Given the description of an element on the screen output the (x, y) to click on. 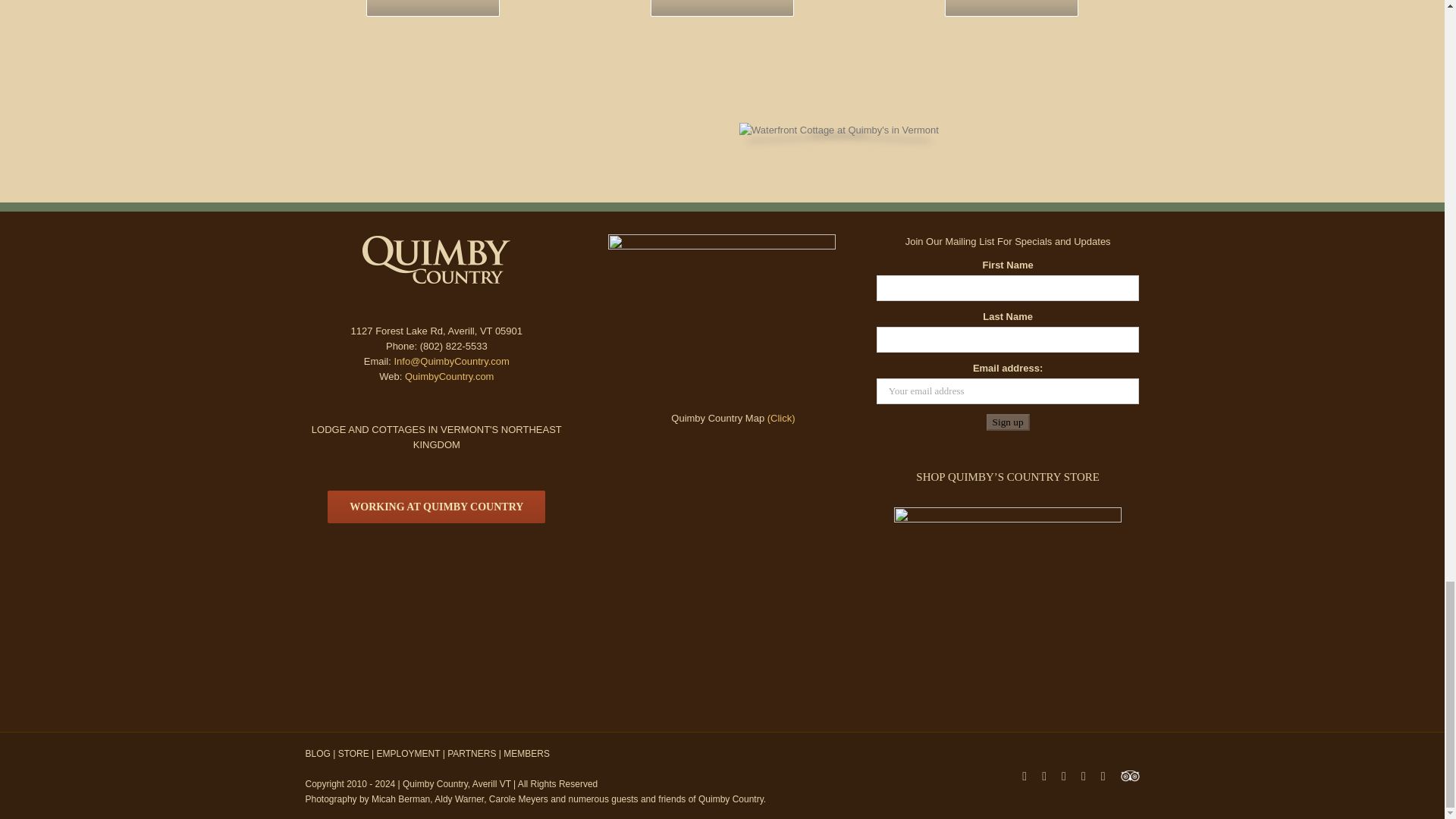
Hares-Ear (837, 130)
TripAdvisor (1130, 773)
Sign up (1008, 422)
